Given the description of an element on the screen output the (x, y) to click on. 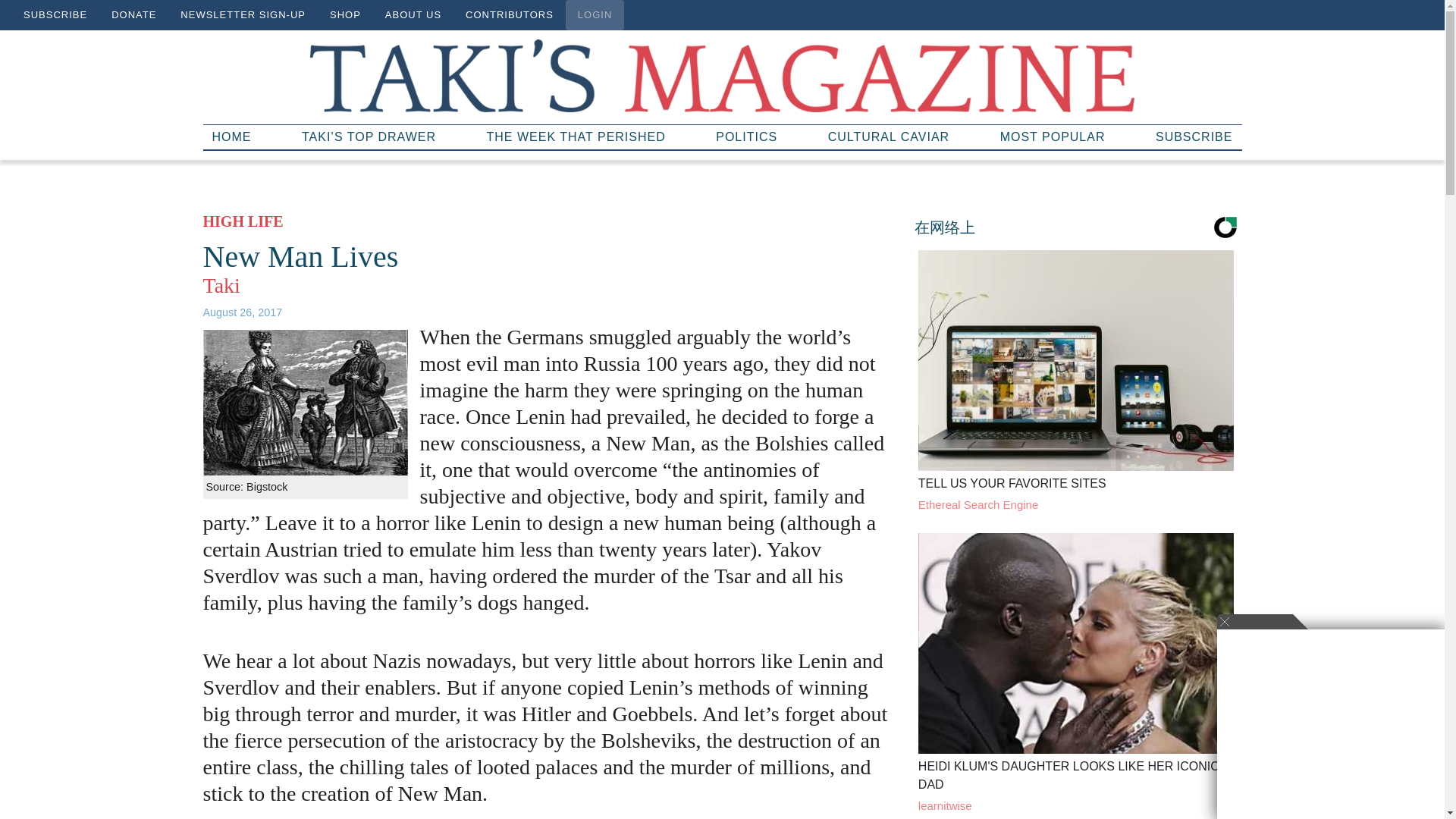
CONTRIBUTORS (509, 15)
ABOUT US (412, 15)
THE WEEK THAT PERISHED (575, 136)
LOGIN (595, 15)
CULTURAL CAVIAR (889, 136)
NEWSLETTER SIGN-UP (242, 15)
SUBSCRIBE (55, 15)
New Man Lives (300, 256)
MOST POPULAR (1052, 136)
DONATE (133, 15)
POLITICS (746, 136)
HIGH LIFE (243, 221)
SHOP (344, 15)
HOME (231, 136)
SUBSCRIBE (1193, 136)
